Given the description of an element on the screen output the (x, y) to click on. 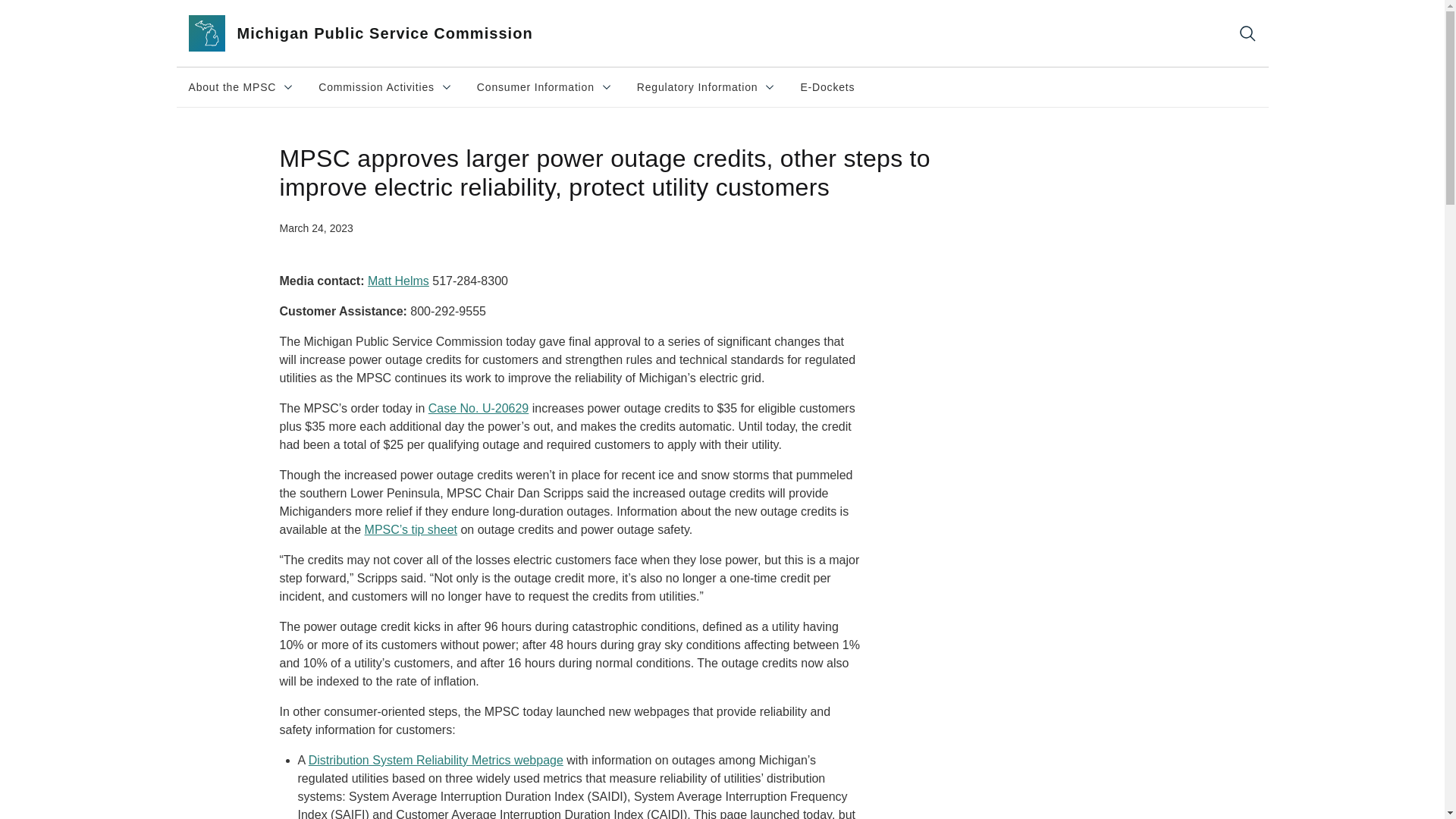
E-Dockets (826, 87)
Michigan Public Service Commission (706, 87)
